Given the description of an element on the screen output the (x, y) to click on. 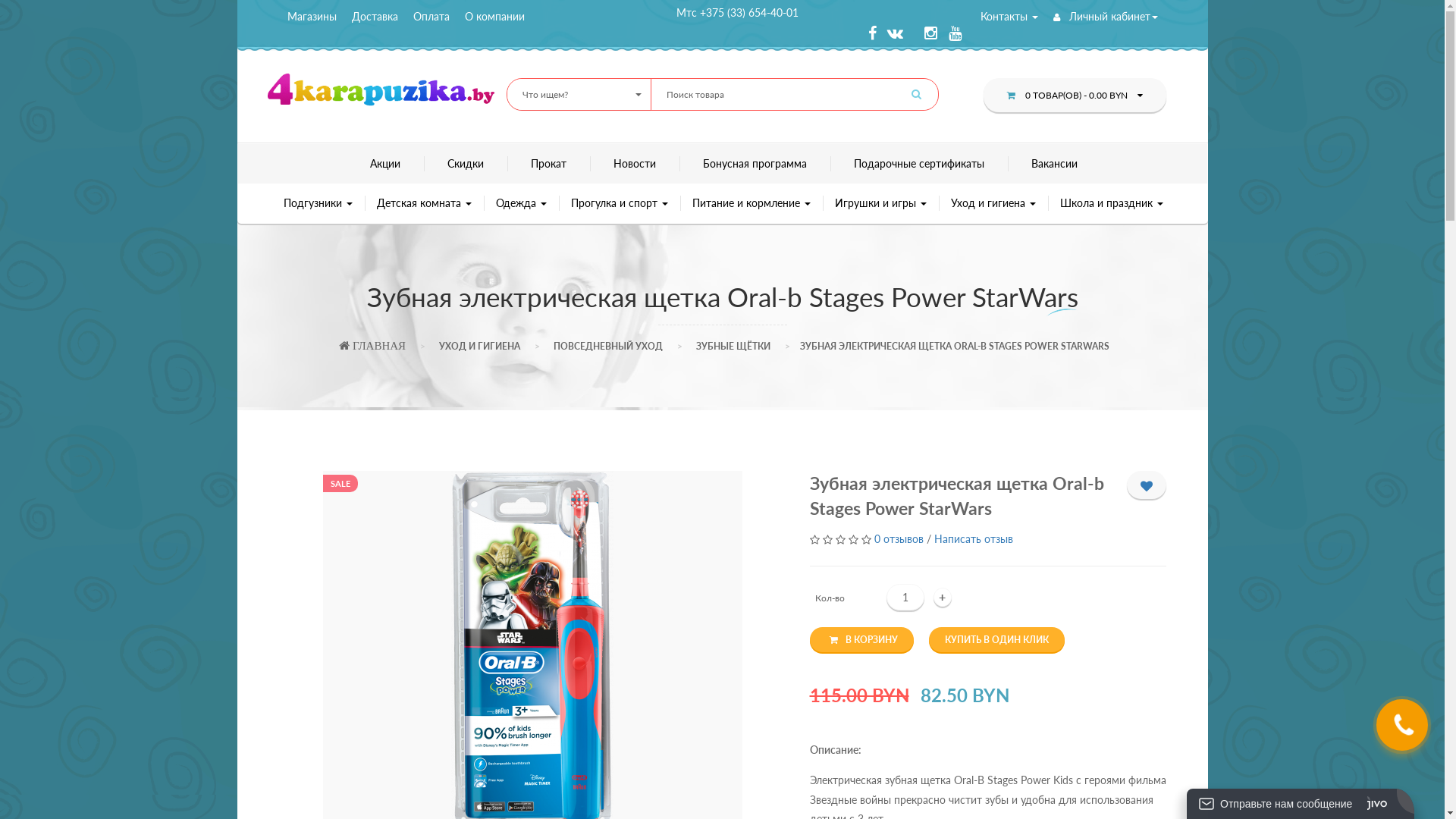
Qty Element type: hover (904, 596)
Search for: Element type: hover (794, 93)
+ Element type: text (941, 596)
